Given the description of an element on the screen output the (x, y) to click on. 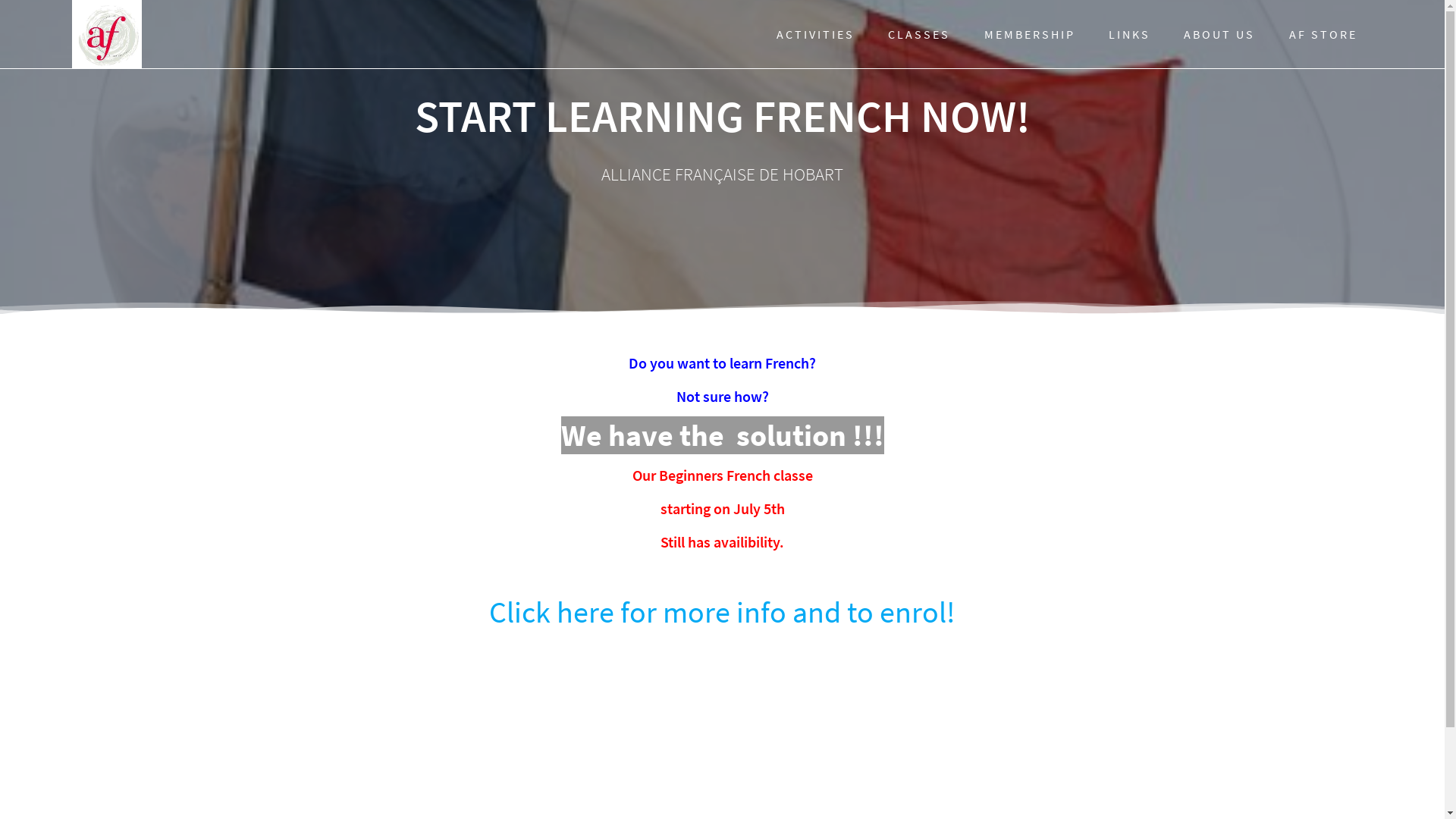
ABOUT US Element type: text (1219, 34)
MEMBERSHIP Element type: text (1029, 34)
AF STORE Element type: text (1323, 34)
Click here for more info and to enrol! Element type: text (722, 611)
CLASSES Element type: text (919, 34)
LINKS Element type: text (1129, 34)
ACTIVITIES Element type: text (815, 34)
